Given the description of an element on the screen output the (x, y) to click on. 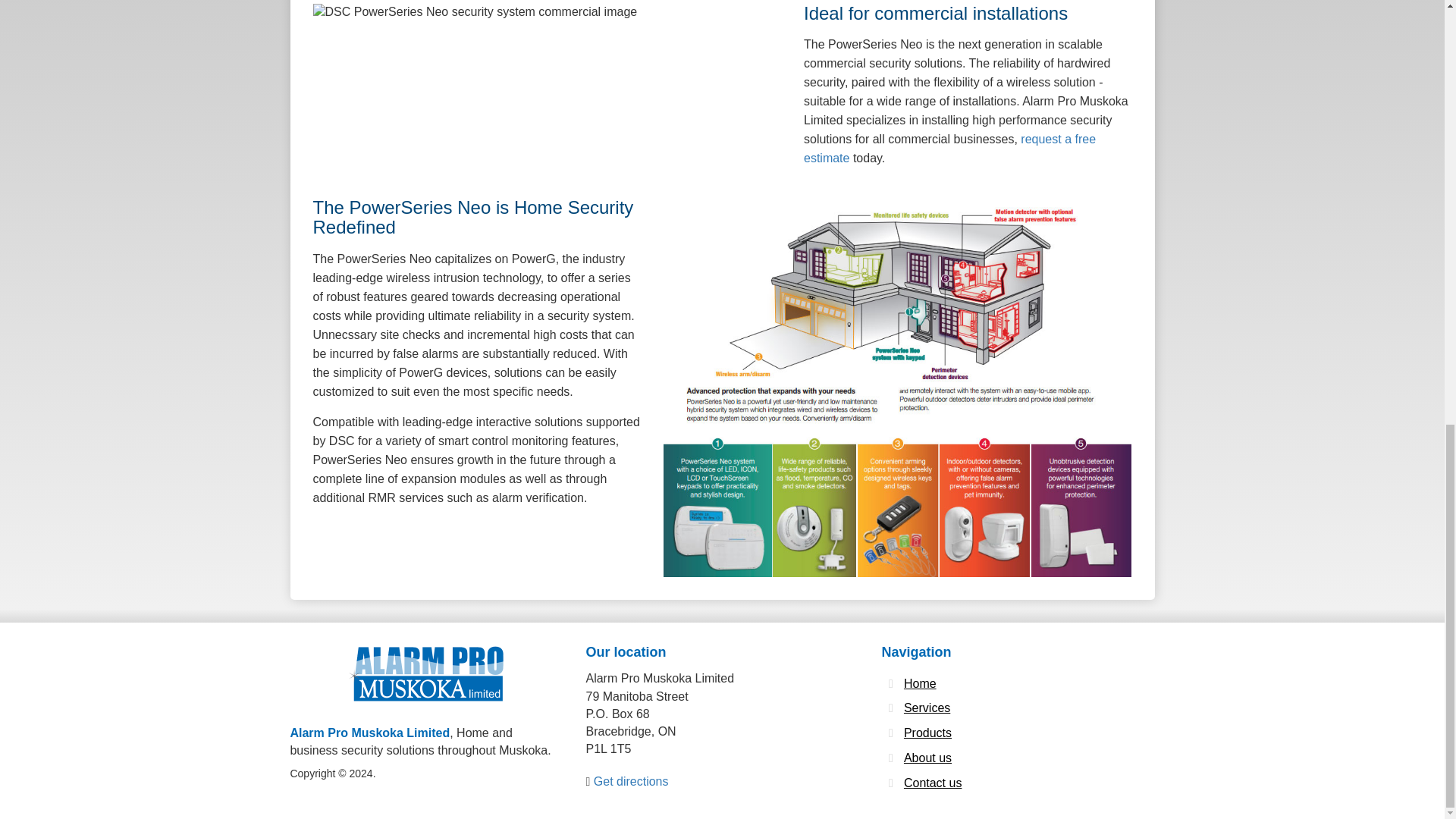
Products (928, 733)
Contact us (932, 783)
Get directions (631, 780)
request a free estimate (949, 148)
Services (927, 708)
Home (920, 683)
About us (928, 758)
